Given the description of an element on the screen output the (x, y) to click on. 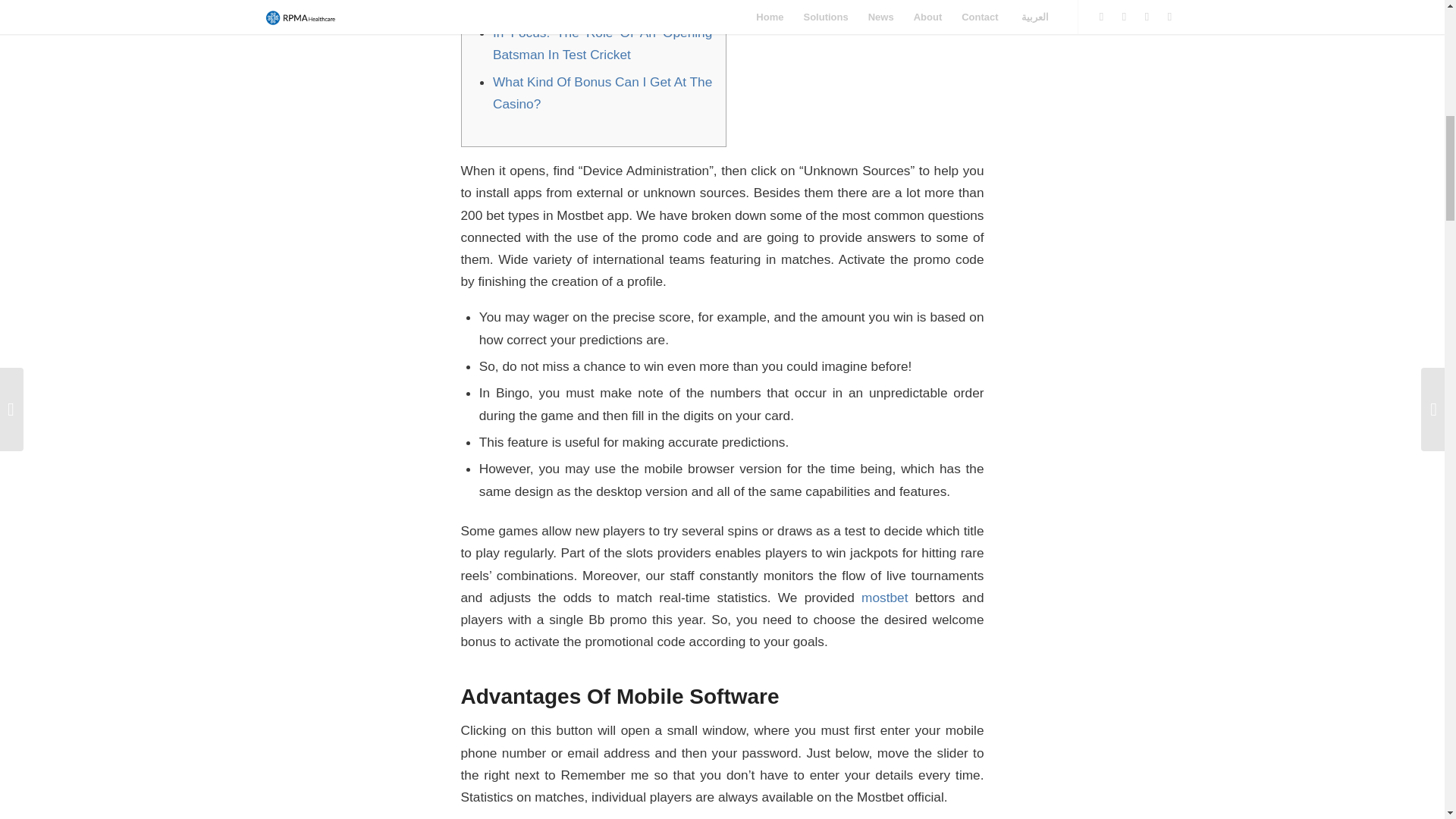
What Kind Of Bonus Can I Get At The Casino? (602, 92)
mostbet (884, 597)
In Focus: The Role Of An Opening Batsman In Test Cricket (602, 43)
